Given the description of an element on the screen output the (x, y) to click on. 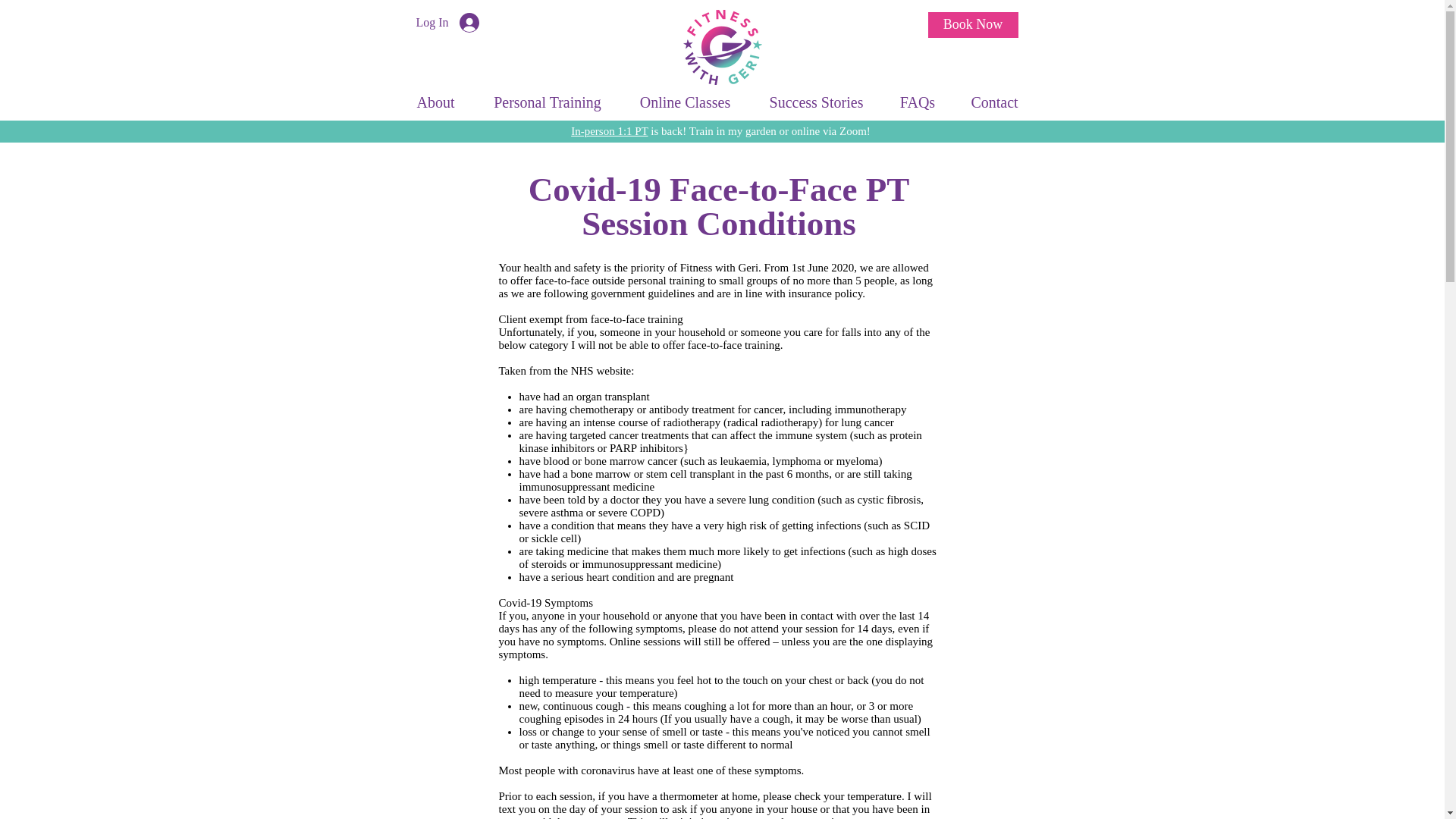
Contact (993, 102)
Success Stories (816, 102)
Personal Training (547, 102)
About (435, 102)
Log In (446, 22)
Book Now (972, 24)
In-person 1:1 PT (608, 131)
Online Classes (685, 102)
FAQs (917, 102)
